Given the description of an element on the screen output the (x, y) to click on. 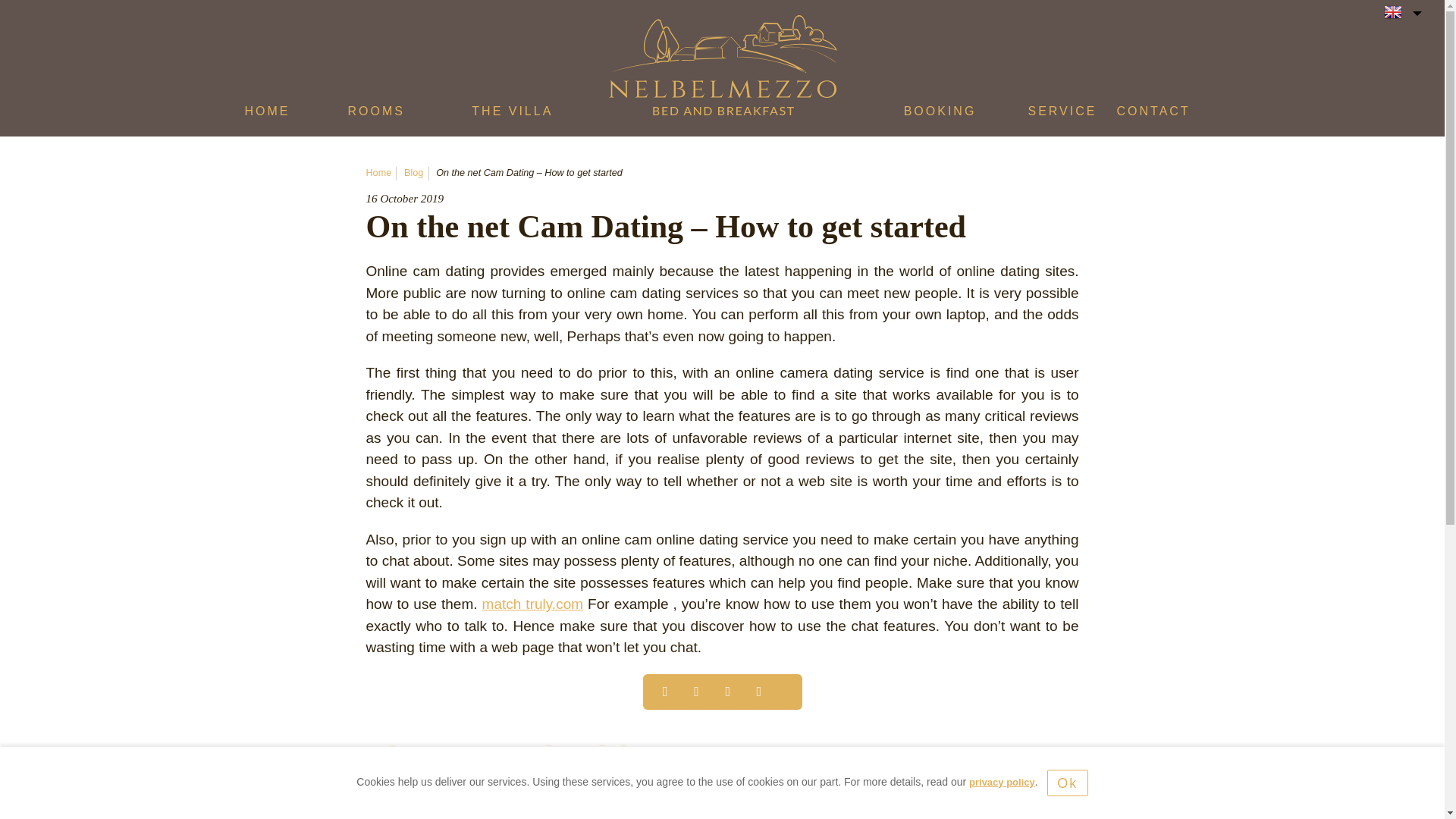
ROOMS (375, 115)
privacy policy (1002, 781)
SERVICE (1062, 115)
match truly.com (532, 603)
THE VILLA (512, 115)
CONTACT (1152, 115)
HOME (266, 115)
Blog (413, 172)
Ok (1066, 782)
Home (378, 172)
Ok (1066, 782)
BOOKING (940, 115)
